Given the description of an element on the screen output the (x, y) to click on. 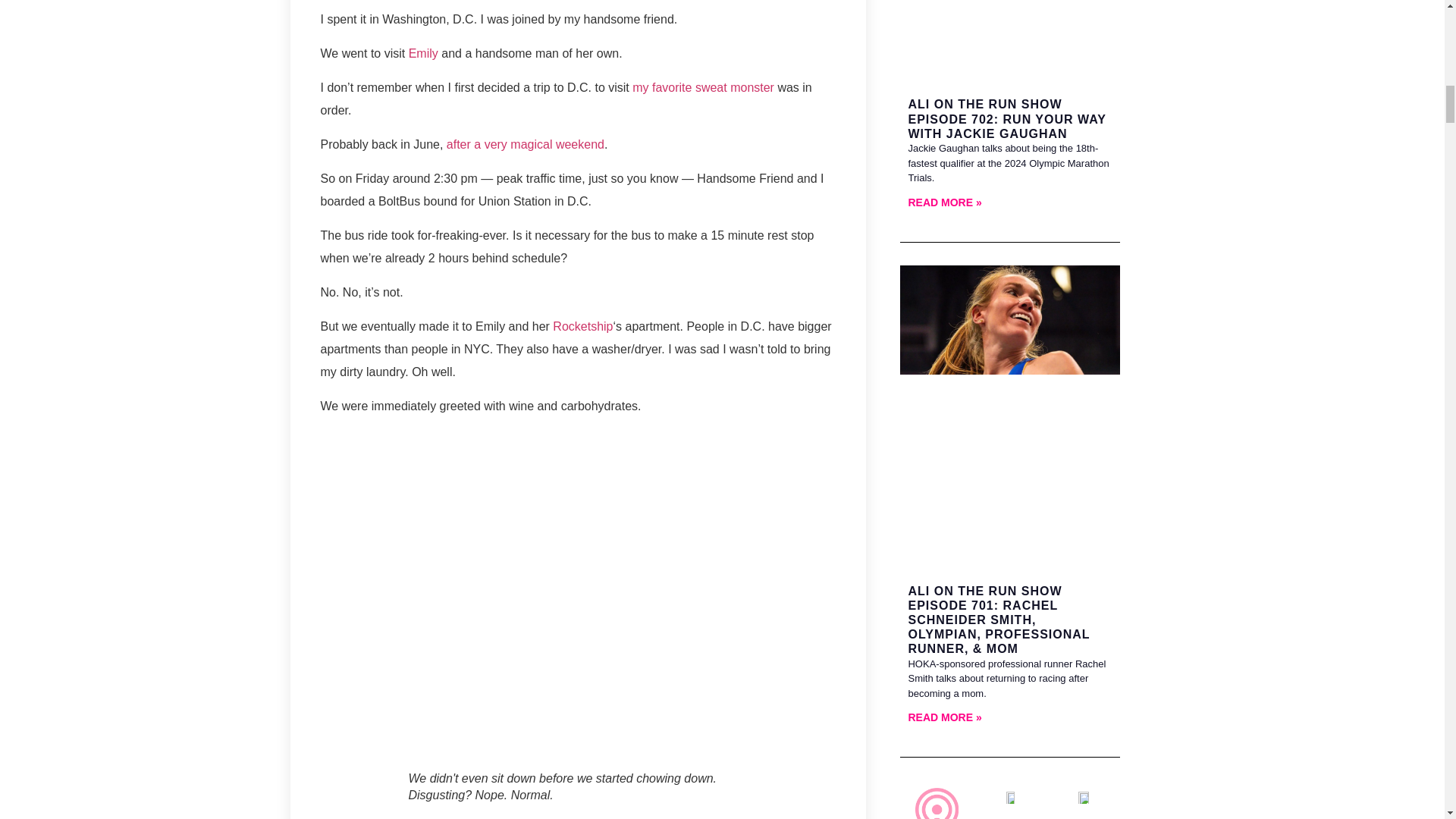
Emily (423, 52)
after a very magical weekend (525, 144)
my favorite sweat monster (702, 87)
